Given the description of an element on the screen output the (x, y) to click on. 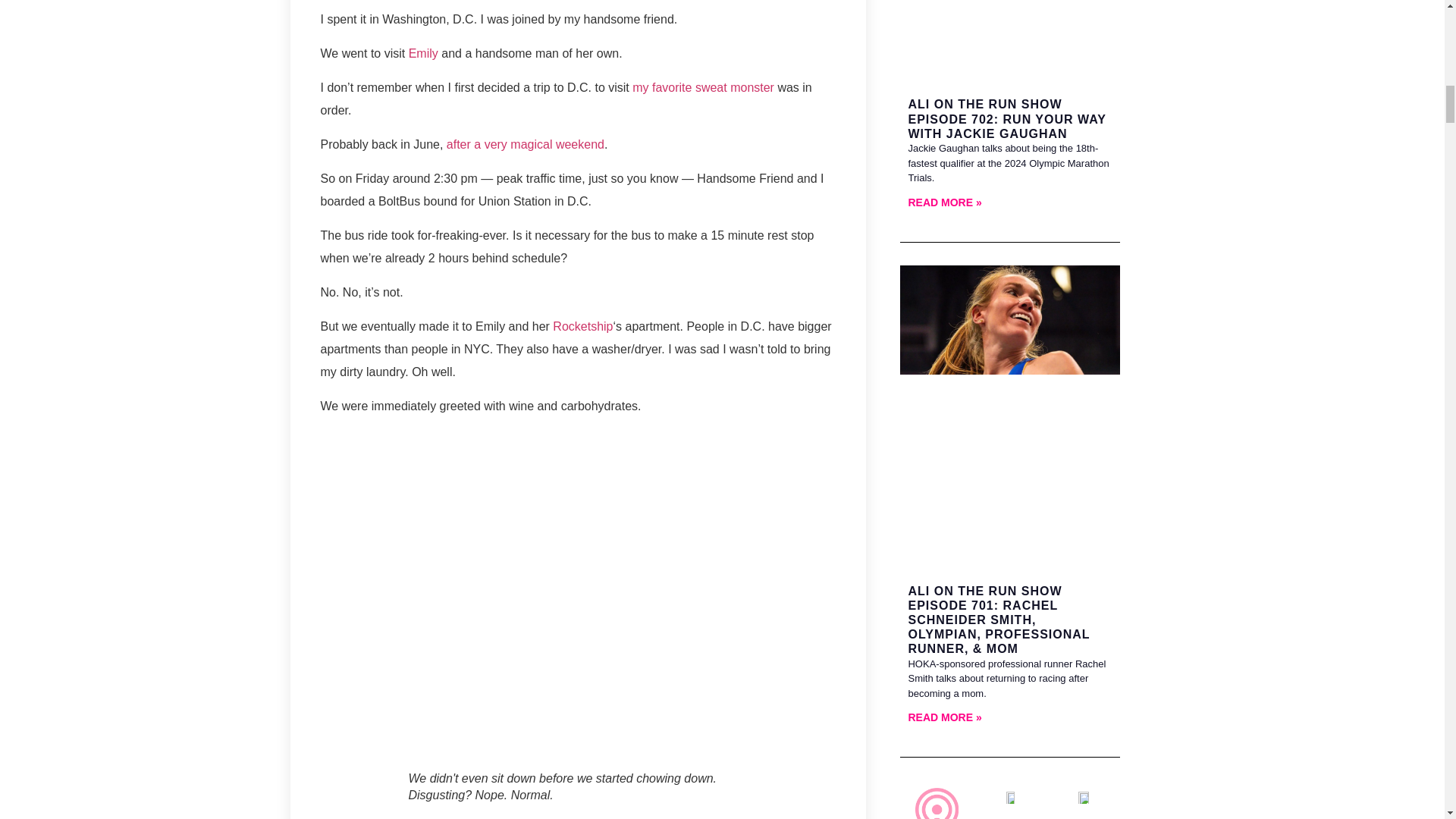
Emily (423, 52)
after a very magical weekend (525, 144)
my favorite sweat monster (702, 87)
